Given the description of an element on the screen output the (x, y) to click on. 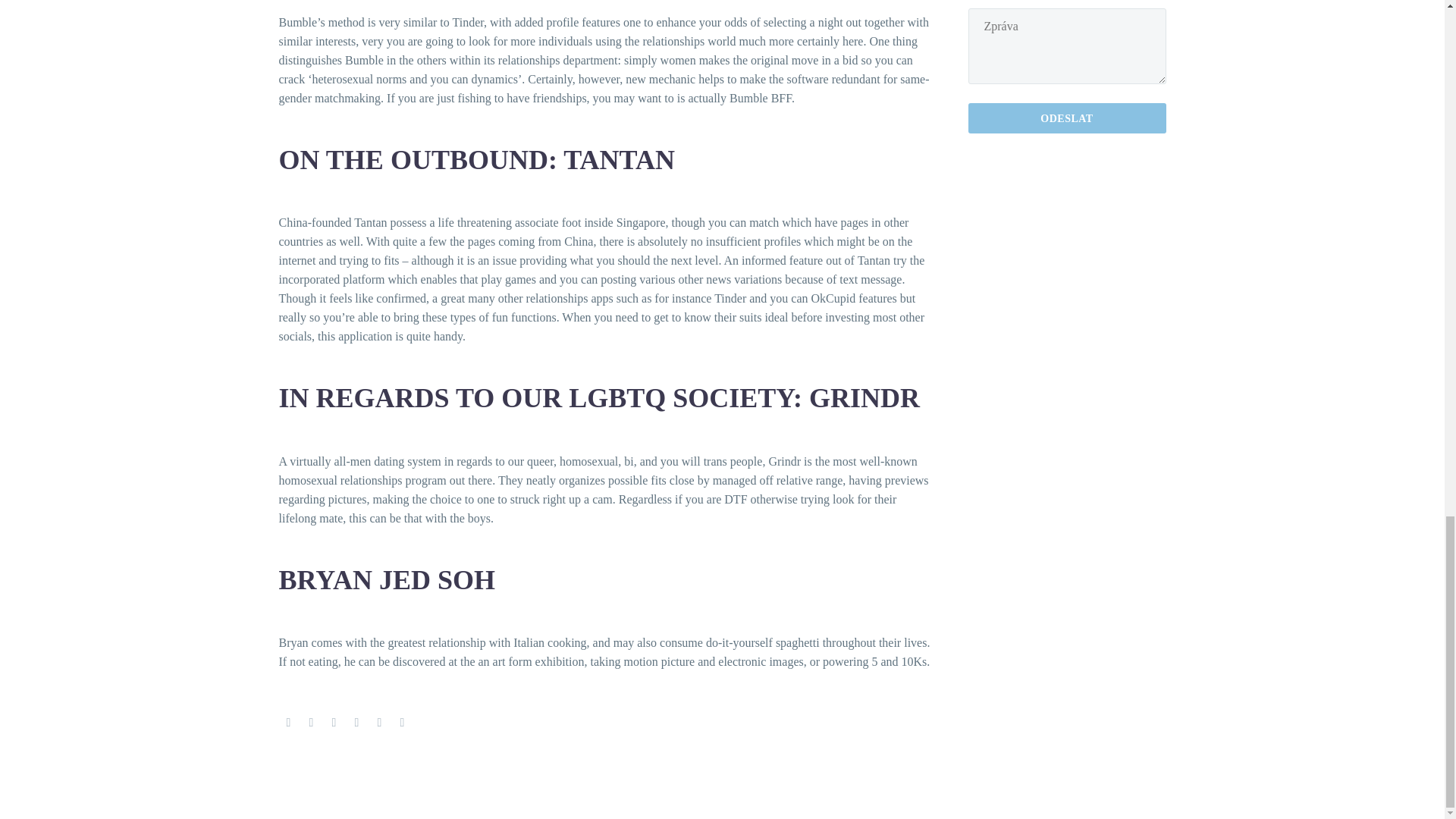
Facebook (288, 722)
Twitter (310, 722)
Odeslat (1067, 118)
Pinterest (333, 722)
Reddit (401, 722)
LinkedIn (378, 722)
Tumblr (356, 722)
